Given the description of an element on the screen output the (x, y) to click on. 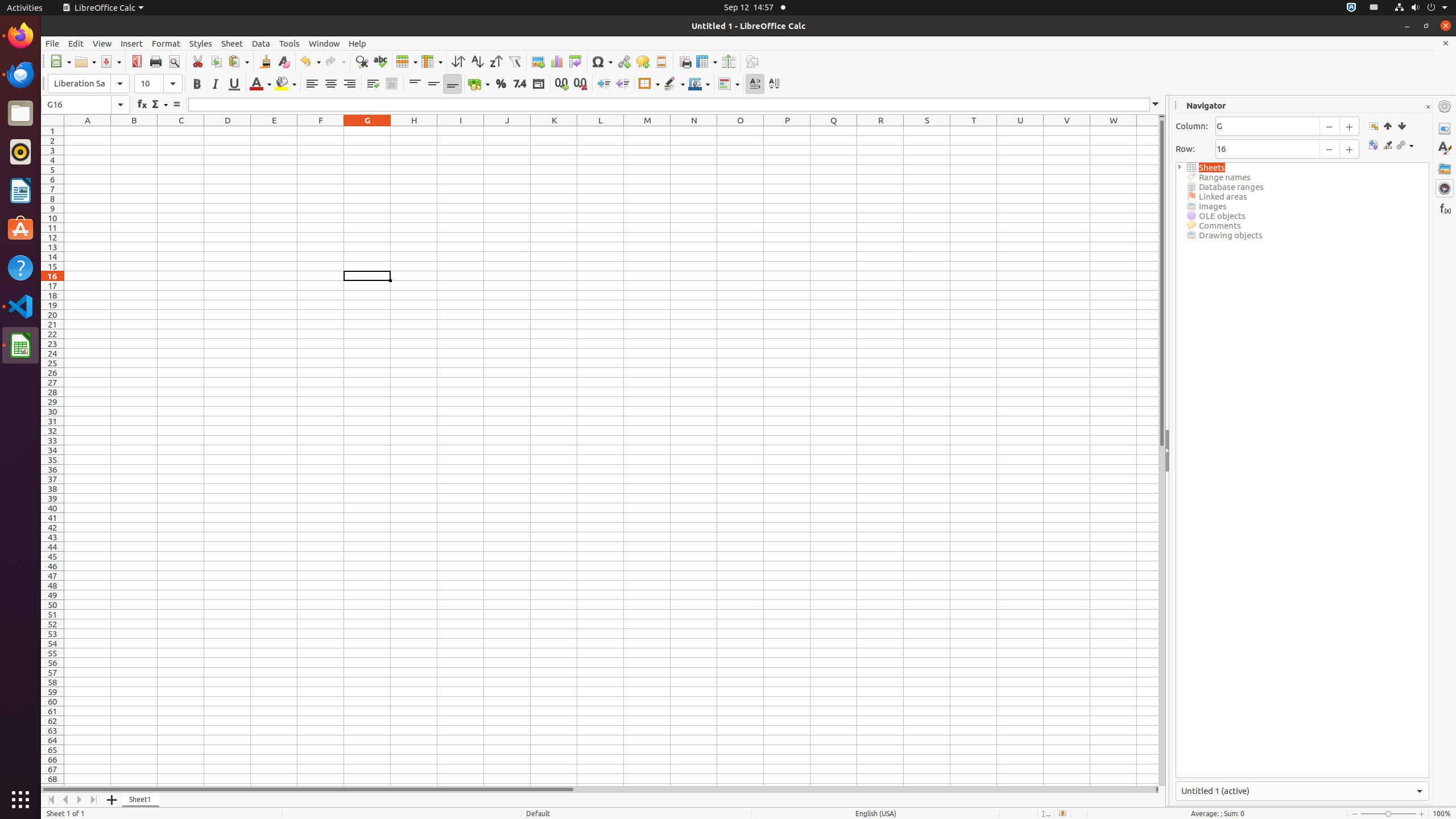
A1 Element type: table-cell (87, 130)
Print Element type: push-button (155, 61)
Edit Element type: menu (75, 43)
Styles Element type: menu (200, 43)
Formula Element type: push-button (176, 104)
